Given the description of an element on the screen output the (x, y) to click on. 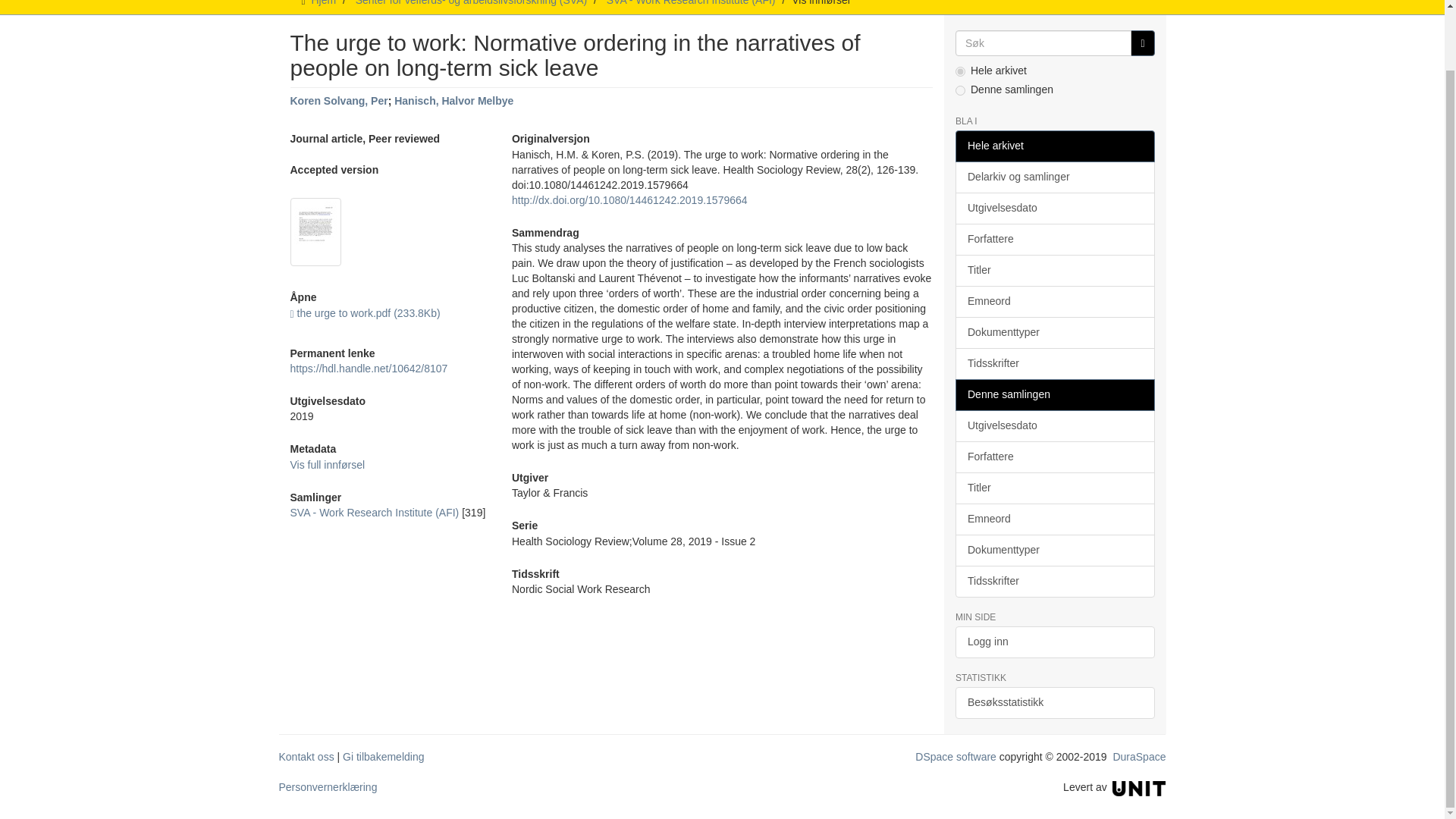
Emneord (1054, 301)
Hele arkivet (1054, 146)
Delarkiv og samlinger (1054, 177)
Hjem (323, 2)
Koren Solvang, Per (338, 101)
Forfattere (1054, 239)
Utgivelsesdato (1054, 208)
Hanisch, Halvor Melbye (453, 101)
Unit (1139, 787)
Titler (1054, 270)
